Given the description of an element on the screen output the (x, y) to click on. 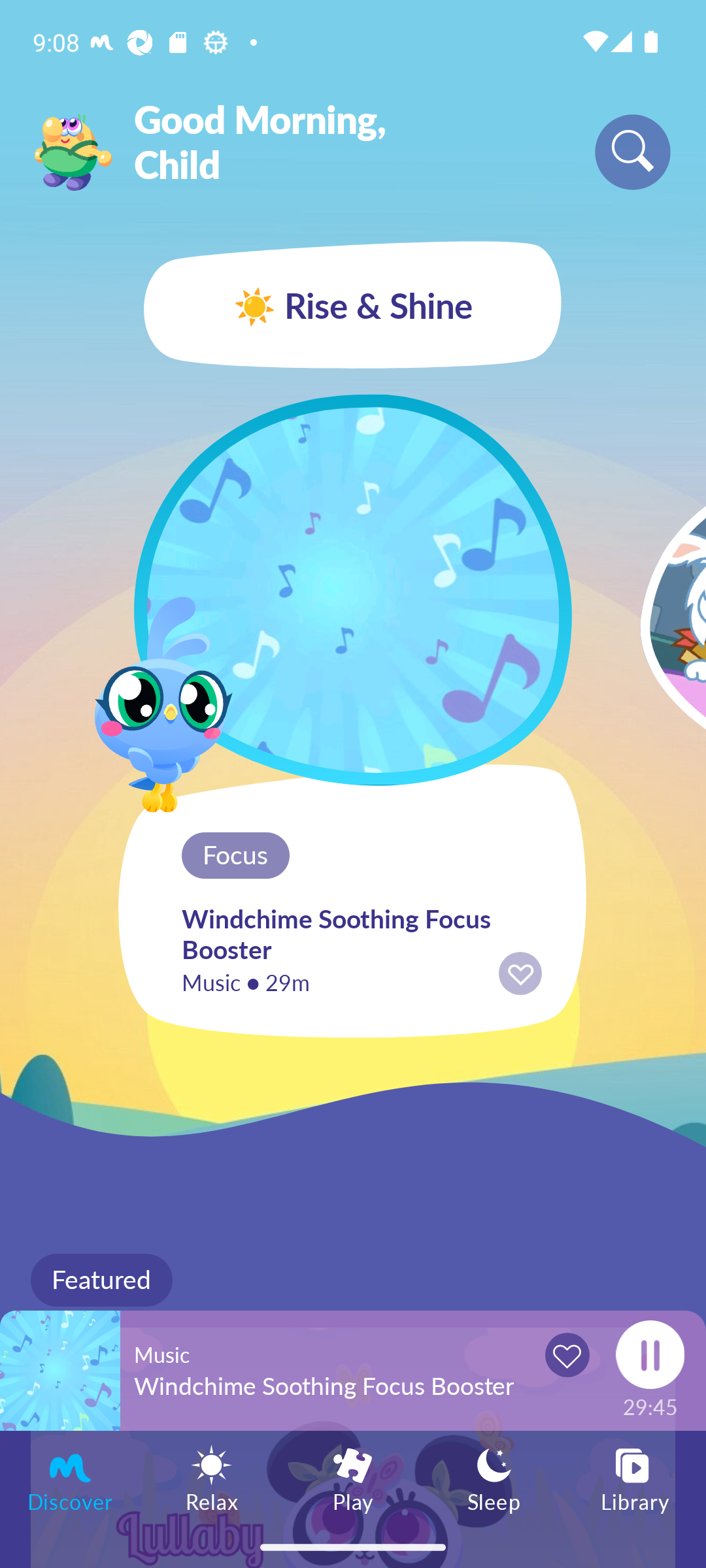
Search (632, 151)
action (520, 973)
Music Windchime Soothing Focus Booster 29:45 (353, 1370)
Relax (211, 1478)
Play (352, 1478)
Sleep (493, 1478)
Library (635, 1478)
